Given the description of an element on the screen output the (x, y) to click on. 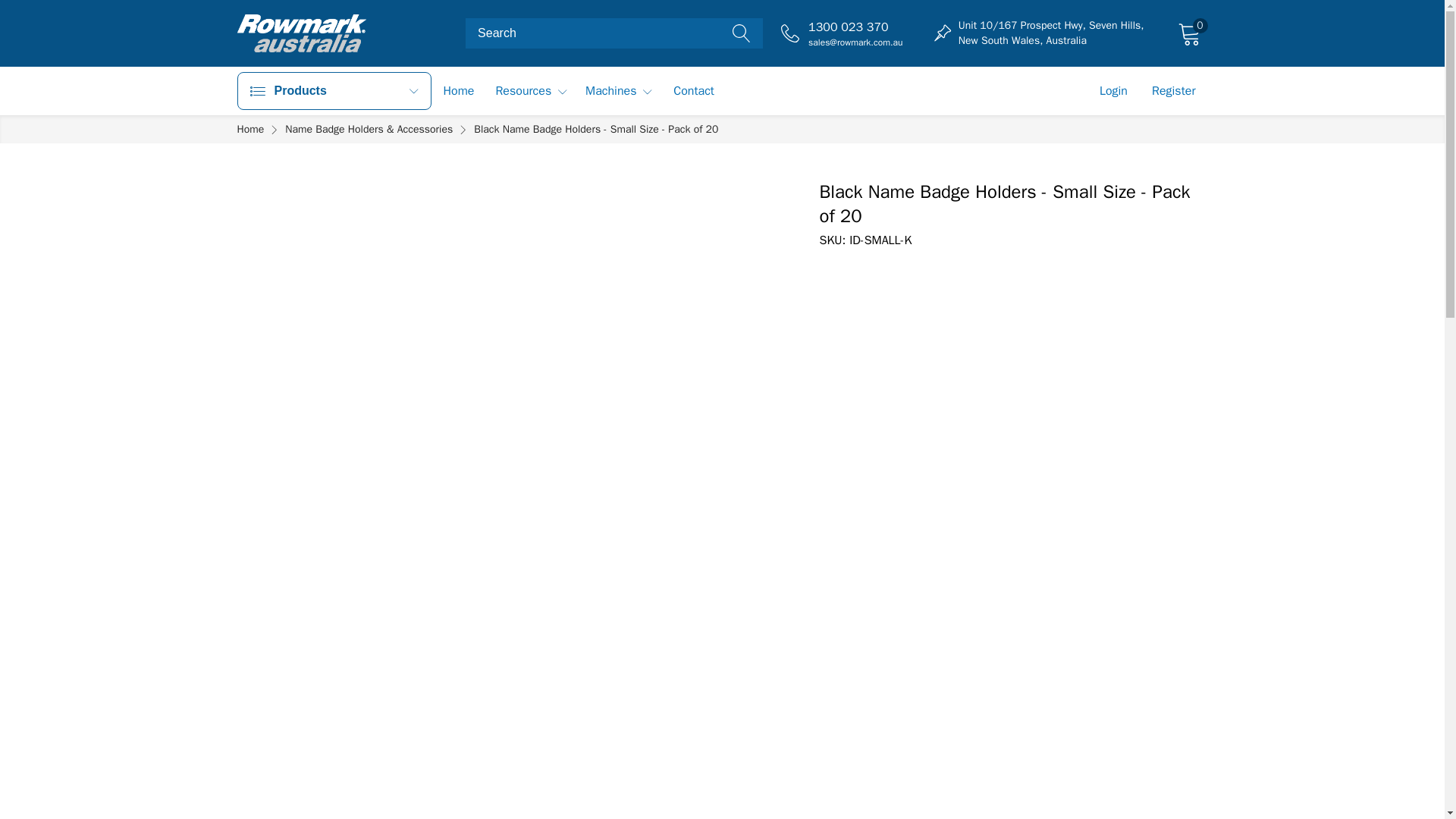
Machines (618, 90)
Products (332, 90)
1300 023 370 (856, 27)
Contact (693, 90)
Click to call Rowmark Australia (856, 27)
Click to email Rowmark Australia (856, 42)
Resources (531, 90)
Register (1188, 33)
